Given the description of an element on the screen output the (x, y) to click on. 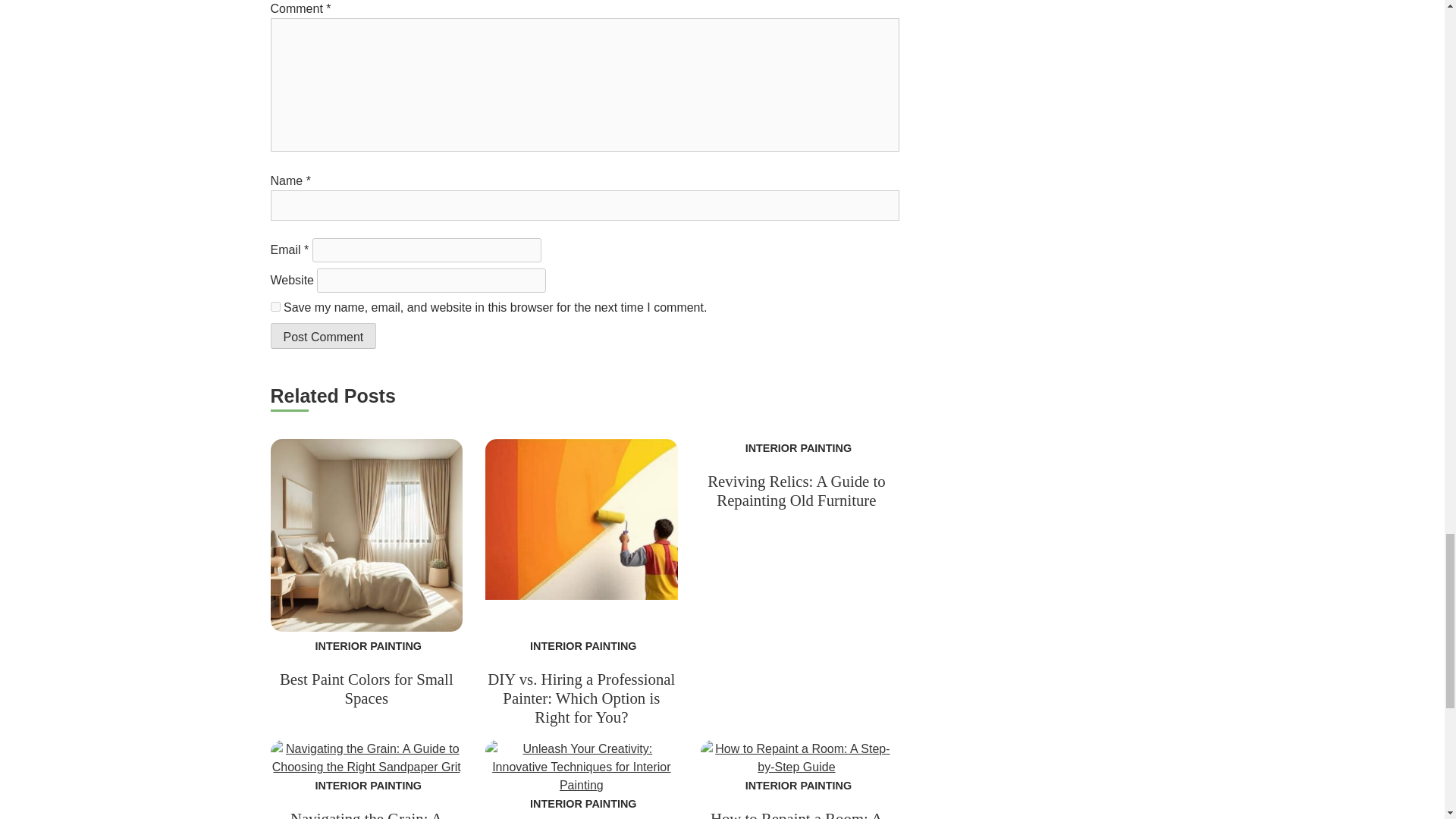
INTERIOR PAINTING (366, 645)
yes (274, 307)
Reviving Relics: A Guide to Repainting Old Furniture (796, 490)
INTERIOR PAINTING (366, 785)
Best Paint Colors for Small Spaces (365, 688)
INTERIOR PAINTING (580, 803)
INTERIOR PAINTING (796, 448)
How to Repaint a Room: A Step-by-Step Guide (796, 814)
INTERIOR PAINTING (580, 645)
Post Comment (322, 335)
INTERIOR PAINTING (796, 785)
Post Comment (322, 335)
